Given the description of an element on the screen output the (x, y) to click on. 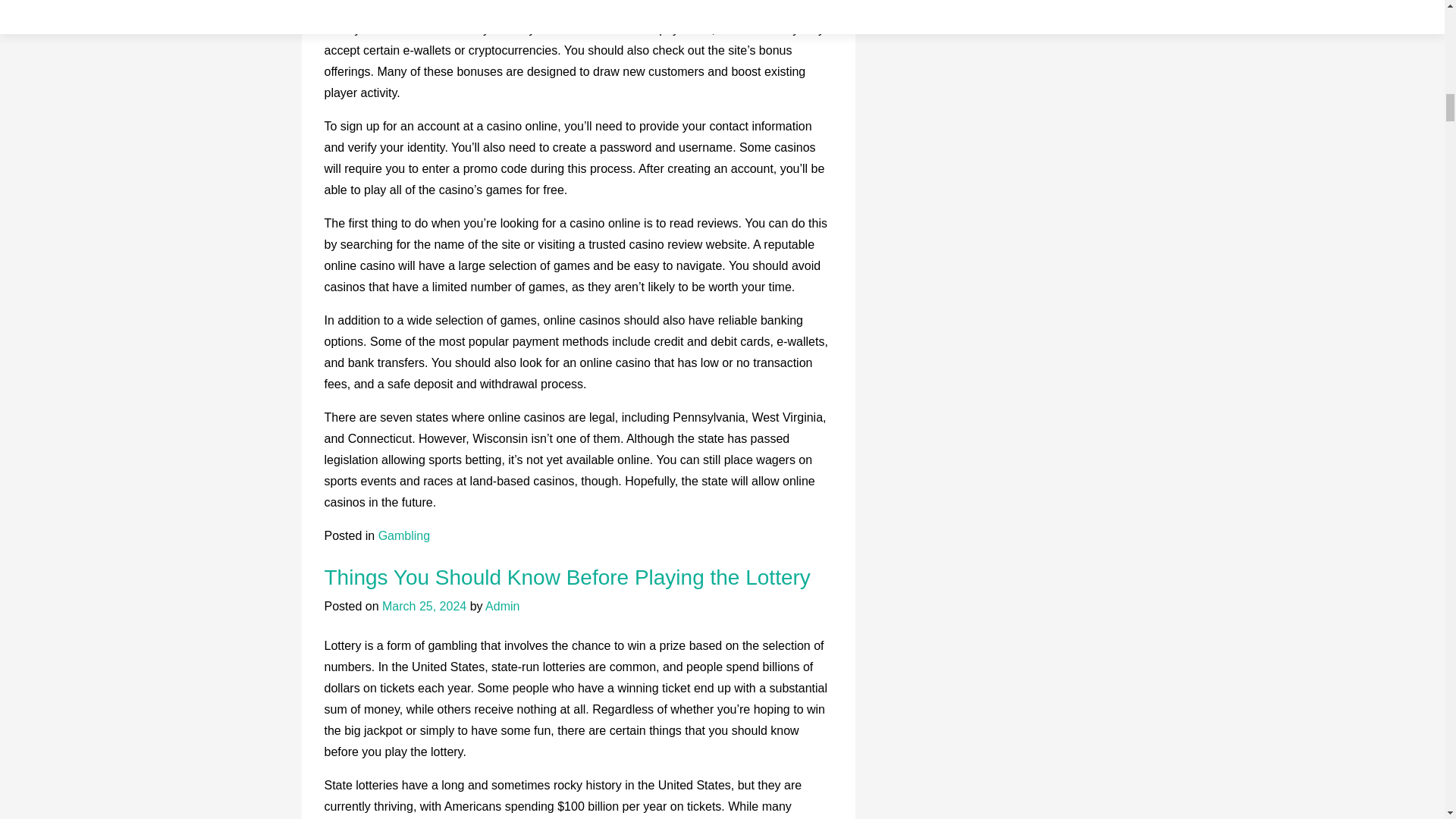
Gambling (403, 535)
Things You Should Know Before Playing the Lottery (567, 576)
Admin (501, 605)
March 25, 2024 (423, 605)
